Given the description of an element on the screen output the (x, y) to click on. 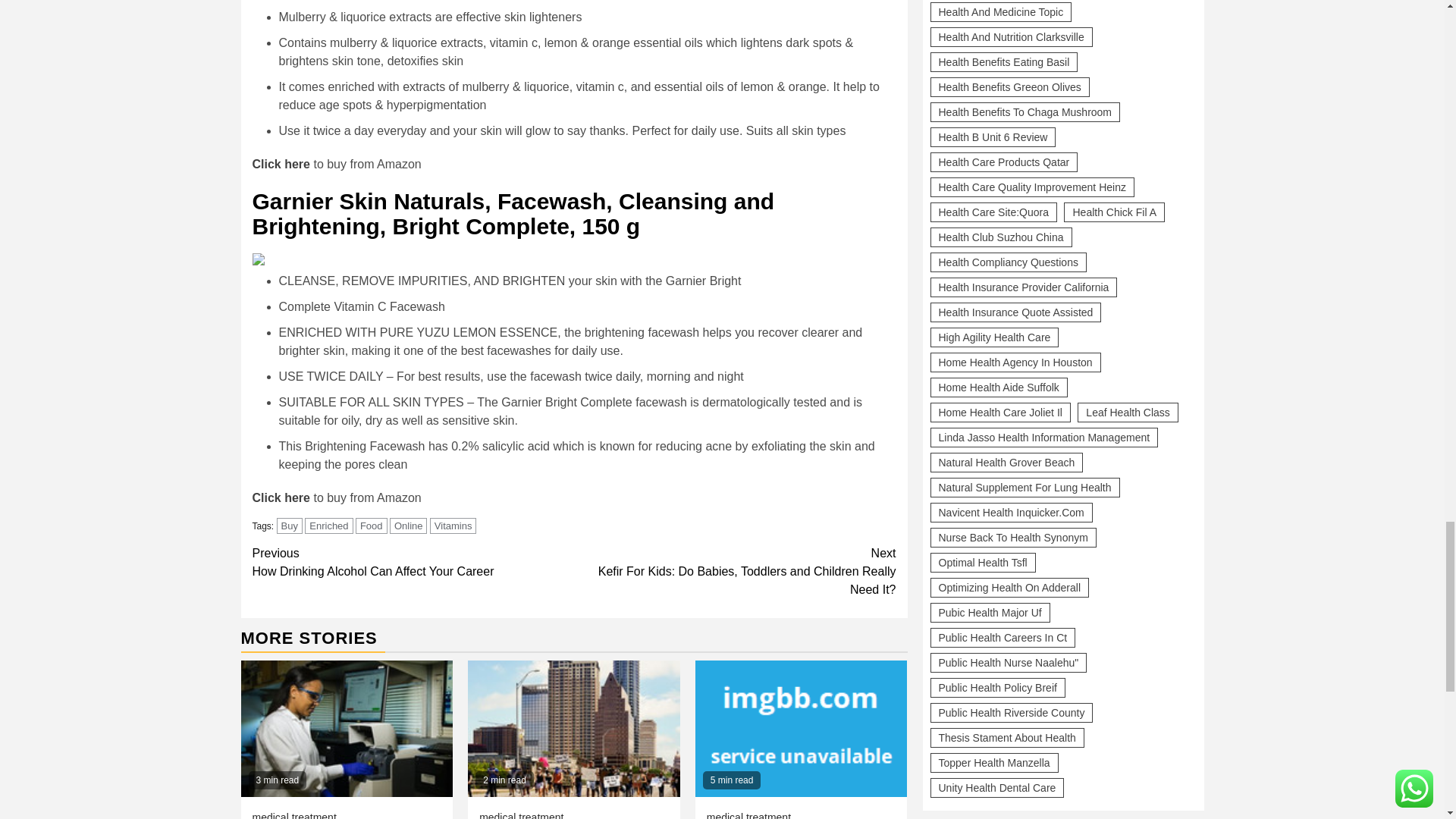
Best 5 Asian Countries That Host Good Hospitals (346, 728)
How to Choose an Appropriate Scabies Natural Treatment (573, 728)
Click here (279, 497)
Click here (279, 164)
